Given the description of an element on the screen output the (x, y) to click on. 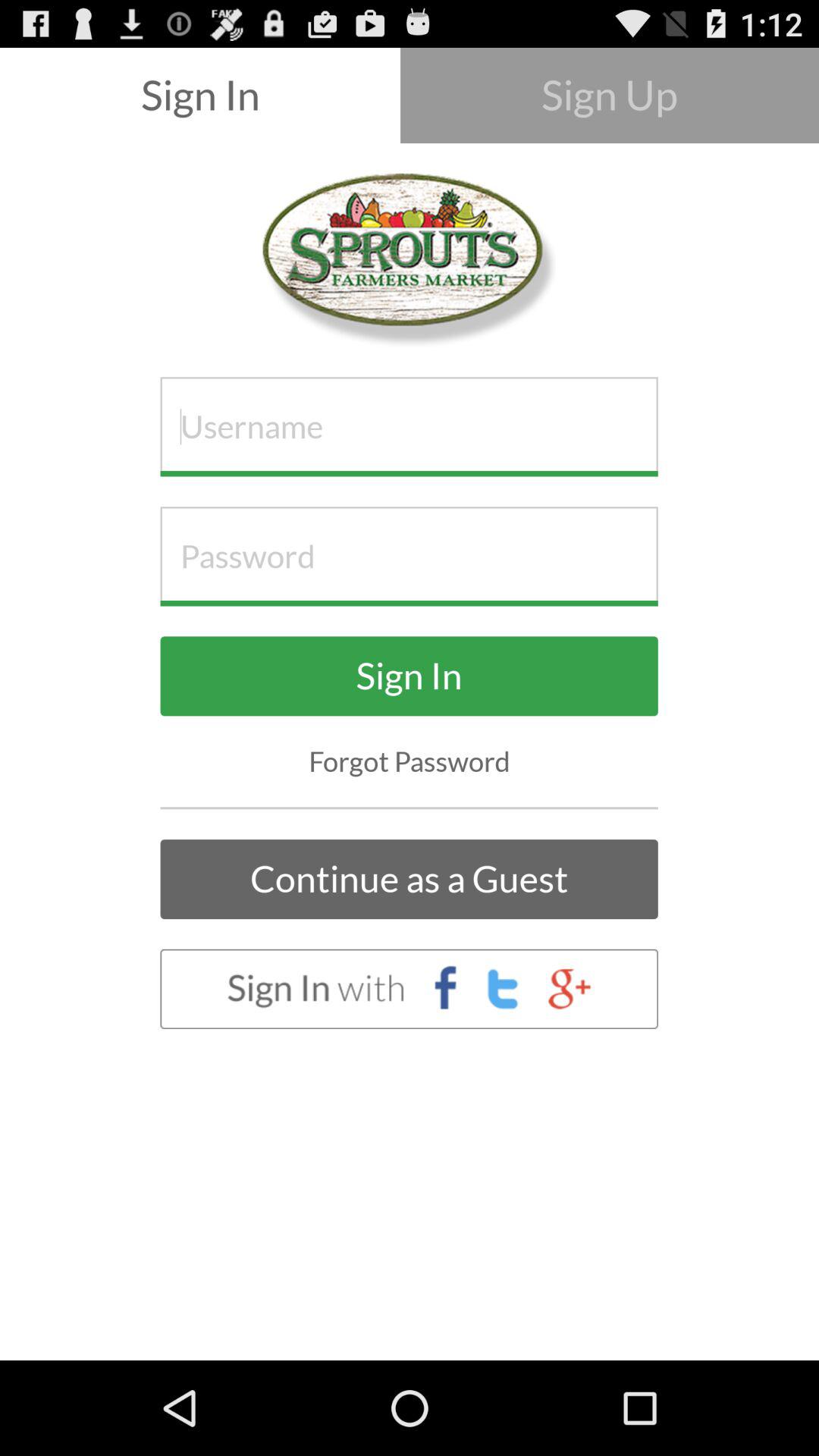
flip to sign up item (609, 95)
